Given the description of an element on the screen output the (x, y) to click on. 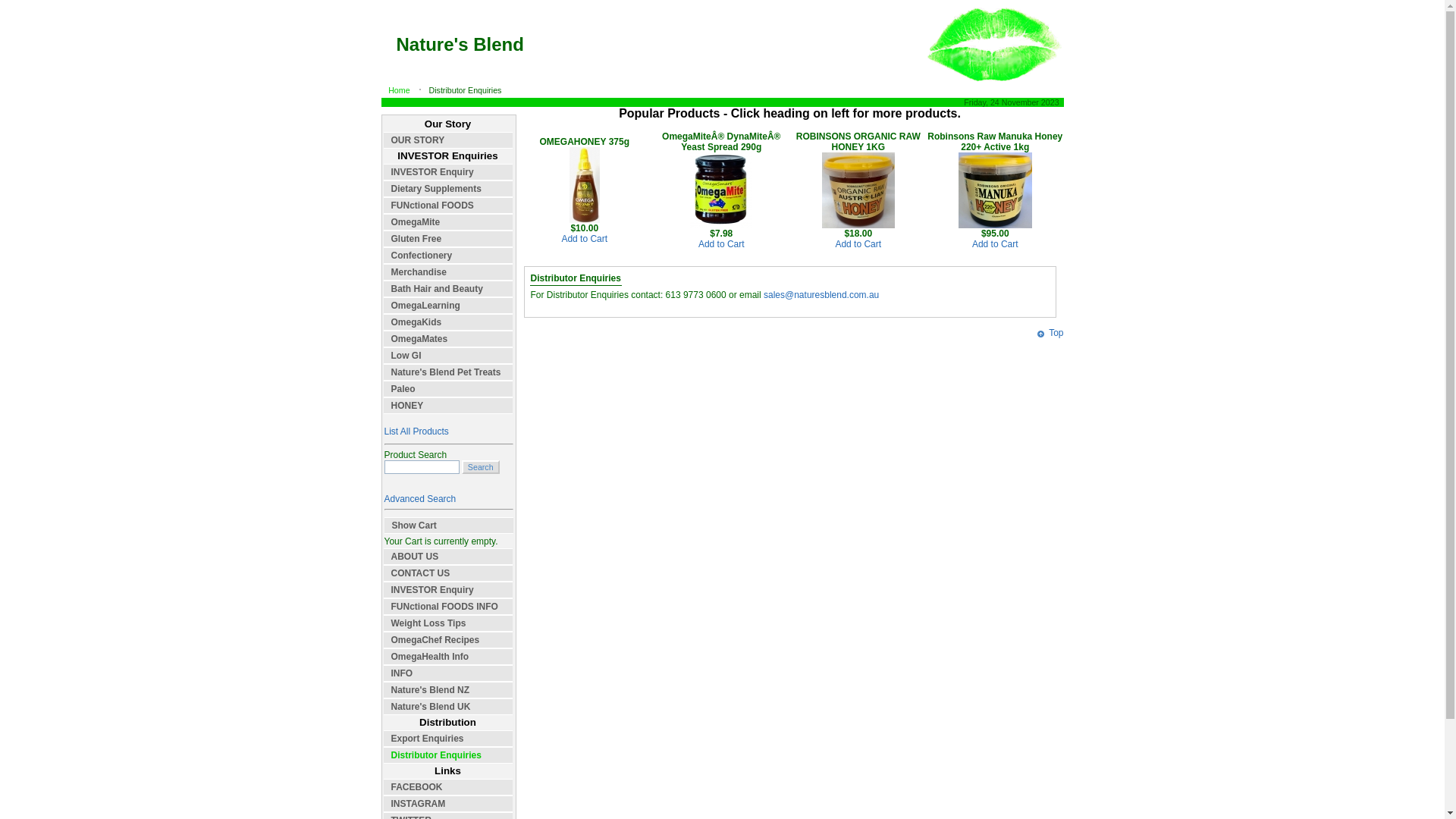
OmegaLearning Element type: text (447, 305)
OmegaKids Element type: text (447, 321)
Export Enquiries Element type: text (447, 738)
FUNctional FOODS Element type: text (447, 205)
Add to Cart Element type: text (584, 238)
Show Cart Element type: text (447, 525)
Low GI Element type: text (447, 355)
Robinsons Raw Manuka Honey 220+ Active  1kg Element type: hover (995, 224)
Merchandise Element type: text (447, 271)
INSTAGRAM Element type: text (447, 803)
ROBINSONS ORGANIC RAW HONEY  1KG Element type: hover (858, 224)
Add to Cart Element type: text (995, 243)
FACEBOOK Element type: text (447, 786)
INFO Element type: text (447, 673)
Top Element type: text (1050, 332)
Advanced Search Element type: text (419, 498)
Home Element type: text (398, 89)
Add to Cart Element type: text (857, 243)
Bath Hair and Beauty Element type: text (447, 288)
Search Element type: text (480, 466)
Nature's Blend Pet Treats Element type: text (447, 372)
Search Element type: hover (420, 466)
OMEGAHONEY 375g Element type: hover (584, 219)
Add to Cart Element type: text (721, 243)
Nature's Blend UK Element type: text (447, 706)
Nature's Blend NZ Element type: text (447, 689)
OmegaMates Element type: text (447, 338)
INVESTOR Enquiry Element type: text (447, 171)
sales@naturesblend.com.au Element type: text (820, 294)
Weight Loss Tips Element type: text (447, 623)
HONEY Element type: text (447, 405)
OmegaHealth Info Element type: text (447, 656)
Dietary Supplements Element type: text (447, 188)
Gluten Free Element type: text (447, 238)
List All Products Element type: text (415, 431)
OmegaMite Element type: text (447, 221)
INVESTOR Enquiry Element type: text (447, 589)
CONTACT US Element type: text (447, 572)
OUR STORY Element type: text (447, 139)
Distributor Enquiries Element type: text (447, 754)
ABOUT US Element type: text (447, 556)
Confectionery Element type: text (447, 255)
Paleo Element type: text (447, 388)
FUNctional FOODS INFO Element type: text (447, 606)
OmegaChef Recipes Element type: text (447, 639)
